Given the description of an element on the screen output the (x, y) to click on. 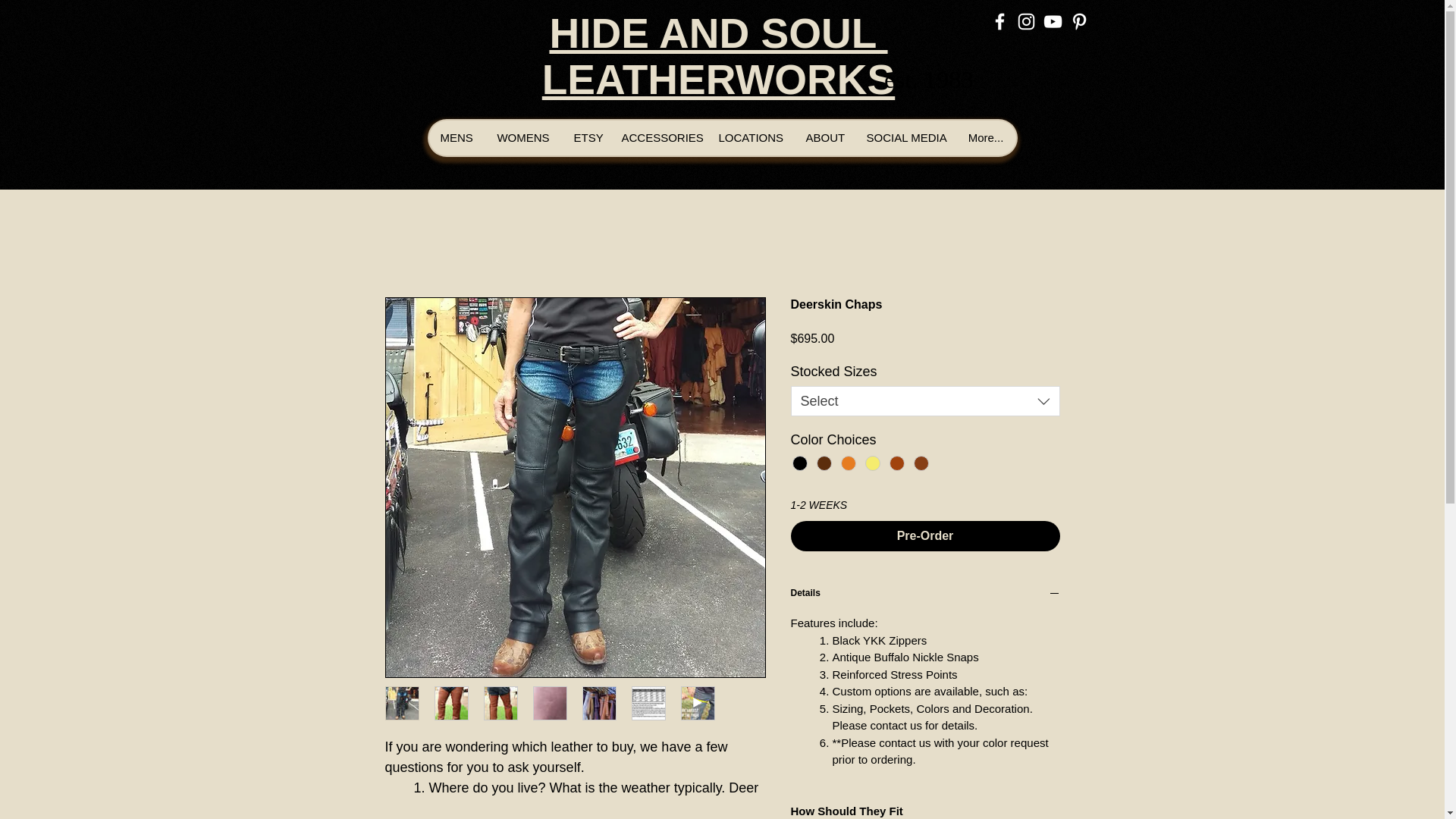
ACCESSORIES (658, 137)
Details (928, 82)
ETSY (924, 594)
LEATHERWORKS (584, 137)
Select (718, 79)
ABOUT (924, 400)
MENS (823, 137)
SOCIAL MEDIA (456, 137)
LOCATIONS (904, 137)
HIDE AND SOUL  (749, 137)
WOMENS (717, 32)
Pre-Order (521, 137)
